Given the description of an element on the screen output the (x, y) to click on. 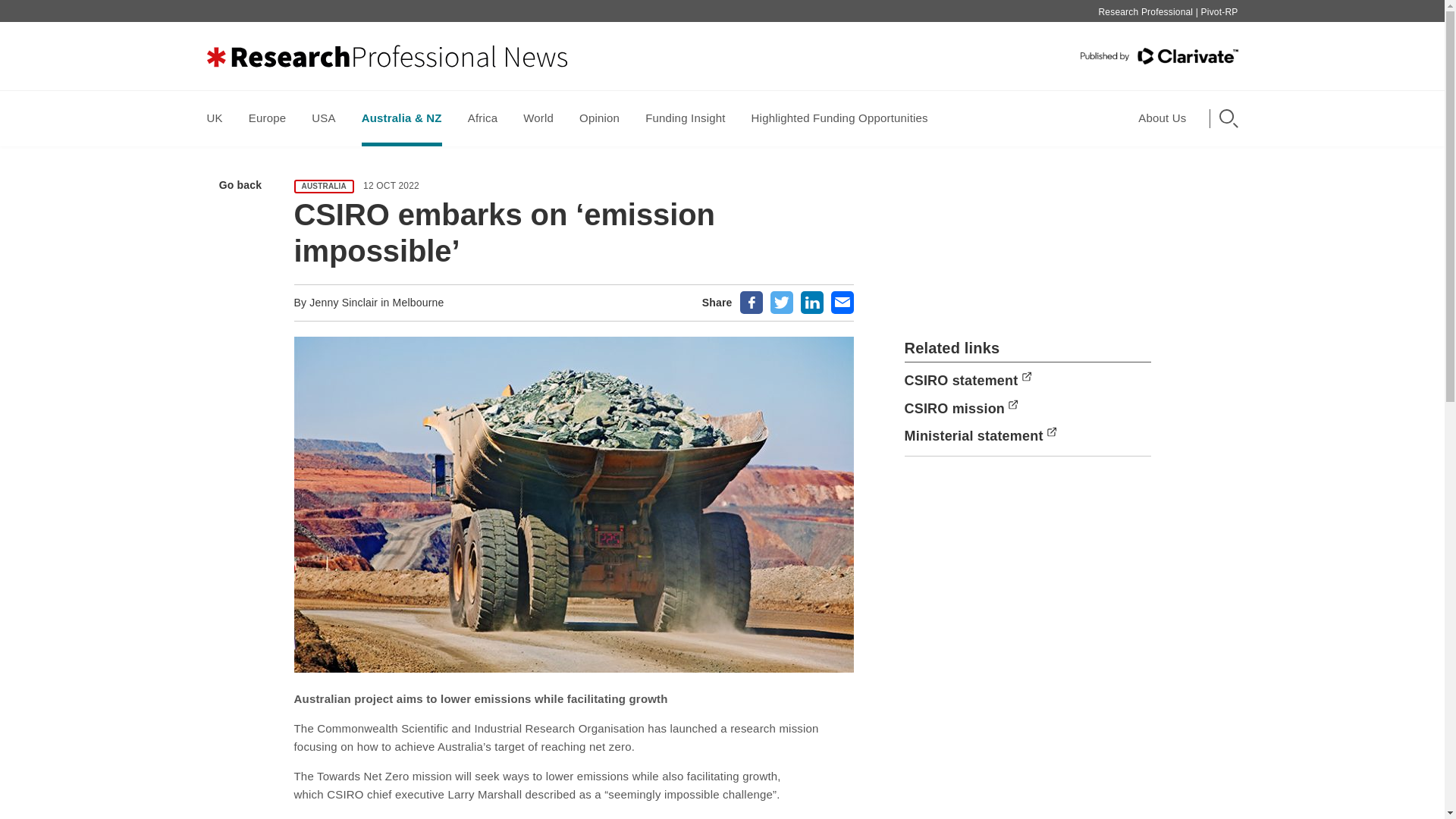
Share via email (842, 302)
CSIRO mission (960, 408)
Pivot-RP (1220, 11)
Research Professional (1144, 11)
Share on Facebook (750, 302)
Share on Linkedin (812, 302)
AUSTRALIA (324, 186)
Search (921, 115)
CSIRO statement (967, 380)
Go back (236, 184)
